Given the description of an element on the screen output the (x, y) to click on. 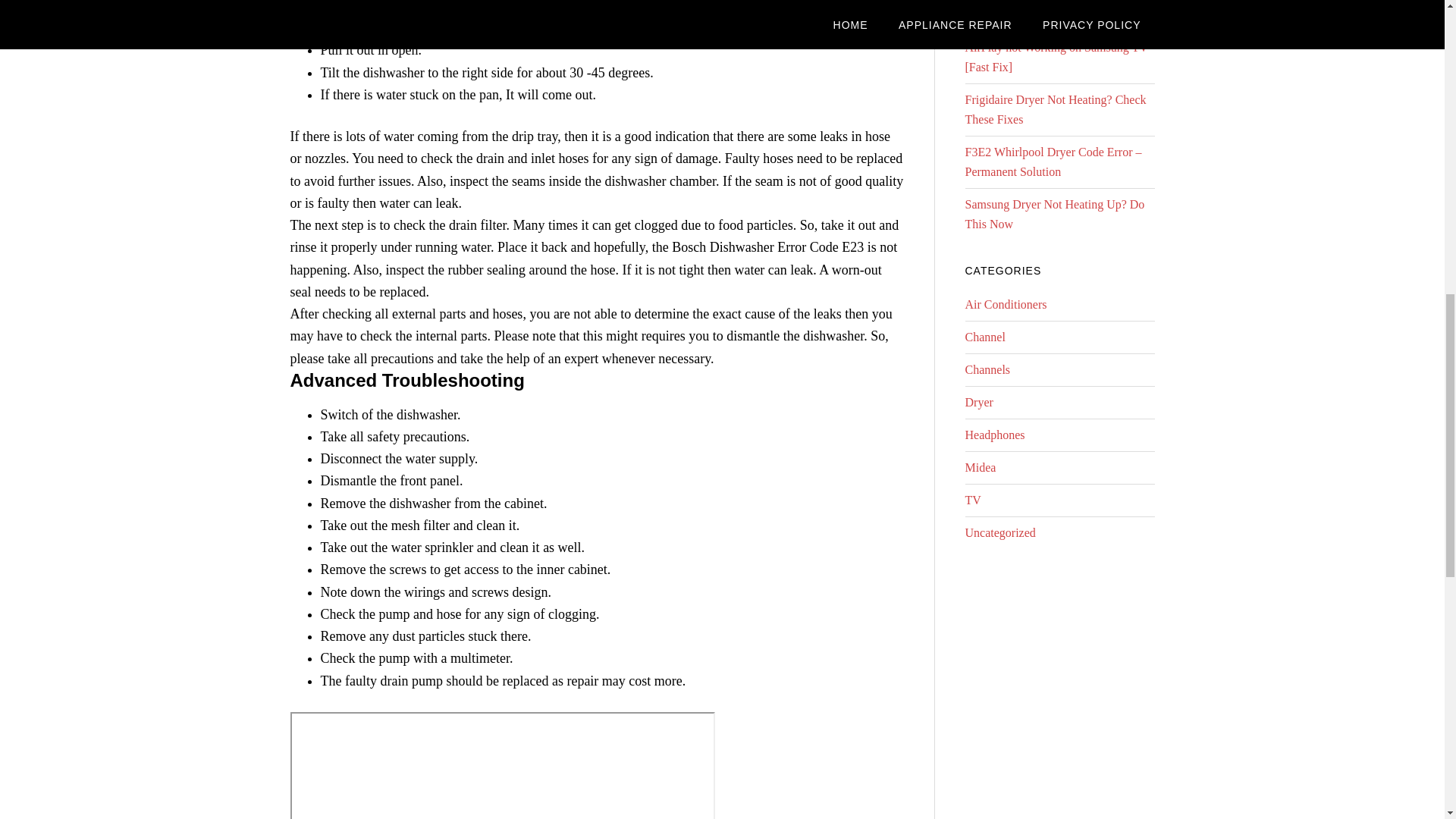
Midea (979, 467)
Dryer (977, 401)
Headphones (994, 434)
Channel (983, 336)
Frigidaire Dryer Not Heating? Check These Fixes (1054, 109)
Air Conditioners (1004, 304)
Channels (986, 369)
Uncategorized (999, 532)
TV (971, 499)
Samsung Dryer Not Heating Up? Do This Now (1053, 214)
